Given the description of an element on the screen output the (x, y) to click on. 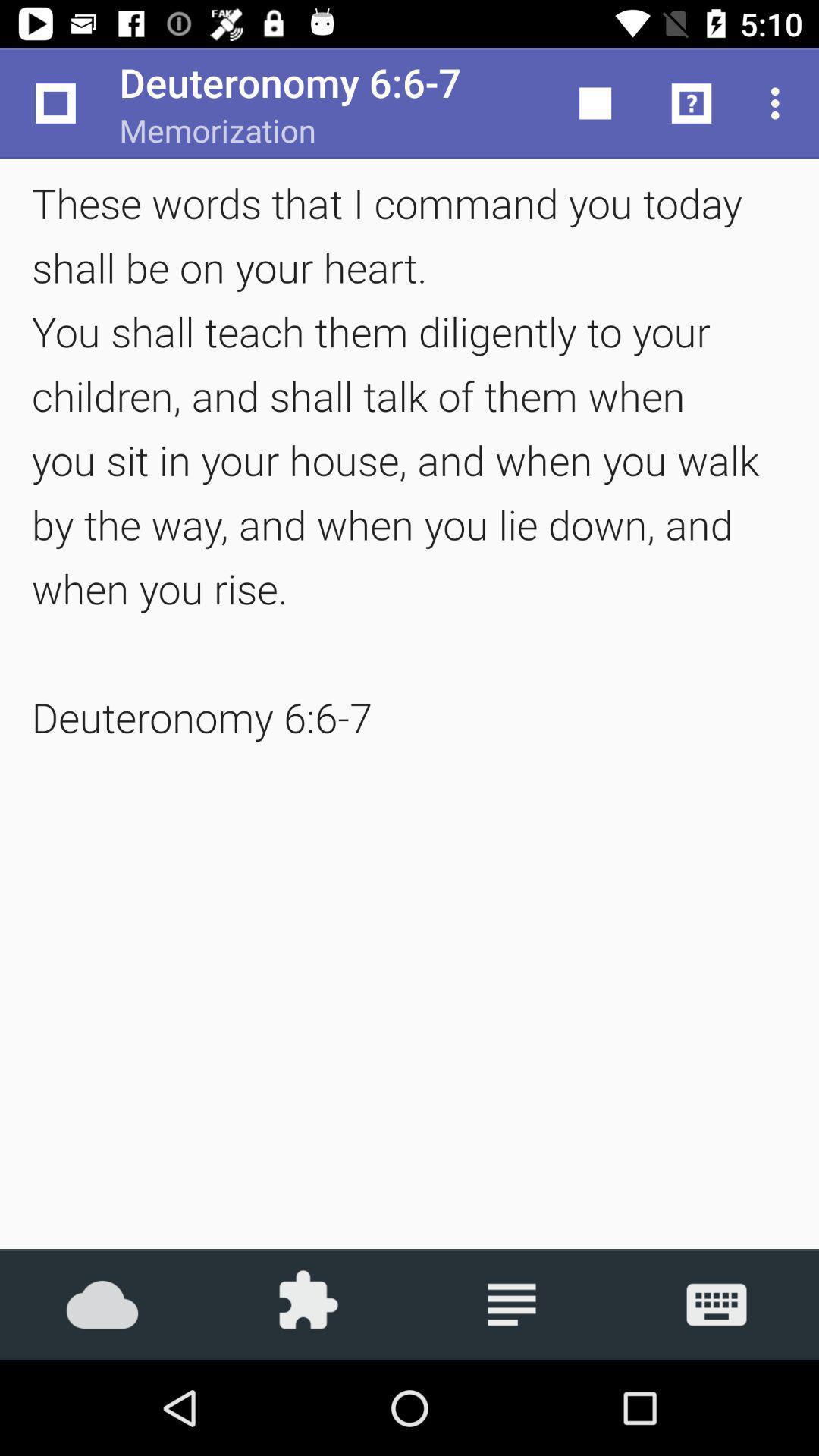
turn off item below the these words that (306, 1304)
